Given the description of an element on the screen output the (x, y) to click on. 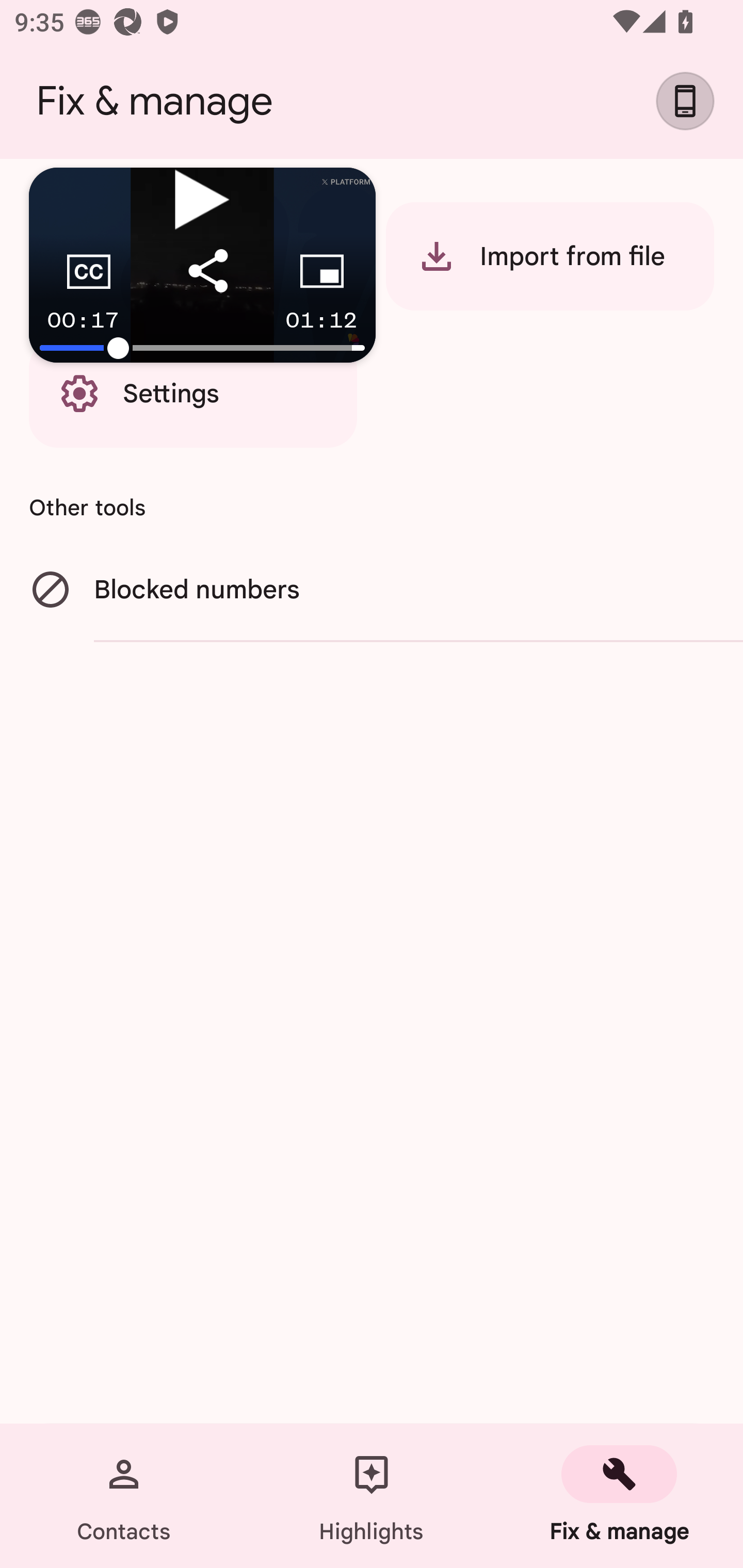
Signed in as Device
Account and settings. (692, 101)
Import from file (549, 256)
Settings (192, 393)
Blocked numbers (371, 590)
Contacts (123, 1495)
Highlights (371, 1495)
